Given the description of an element on the screen output the (x, y) to click on. 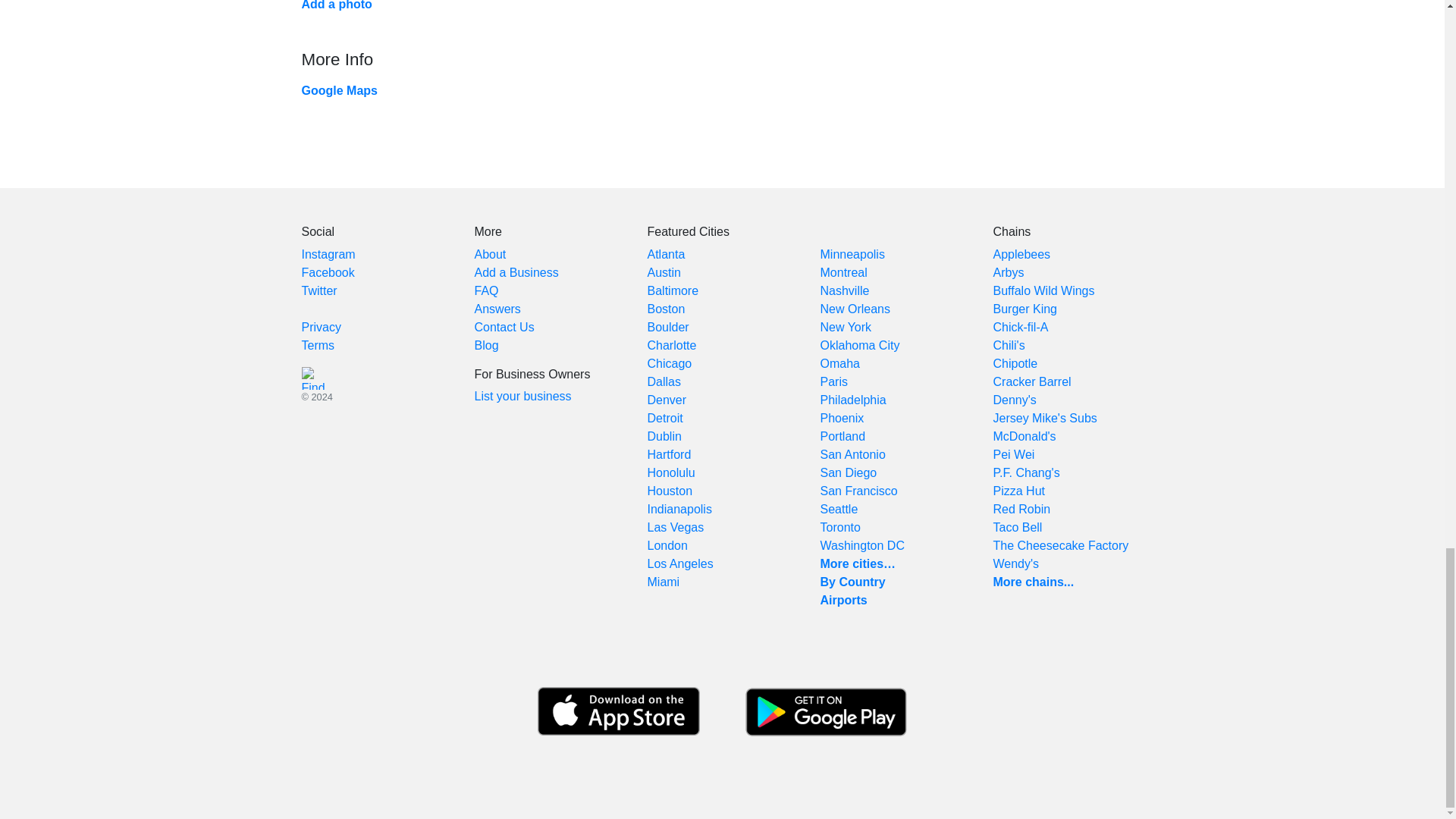
Instagram (328, 254)
About (490, 254)
Add a photo (336, 5)
Privacy (320, 327)
Google Maps (339, 90)
Add a Business (516, 272)
Terms (317, 345)
Twitter (319, 290)
Facebook (328, 272)
